Given the description of an element on the screen output the (x, y) to click on. 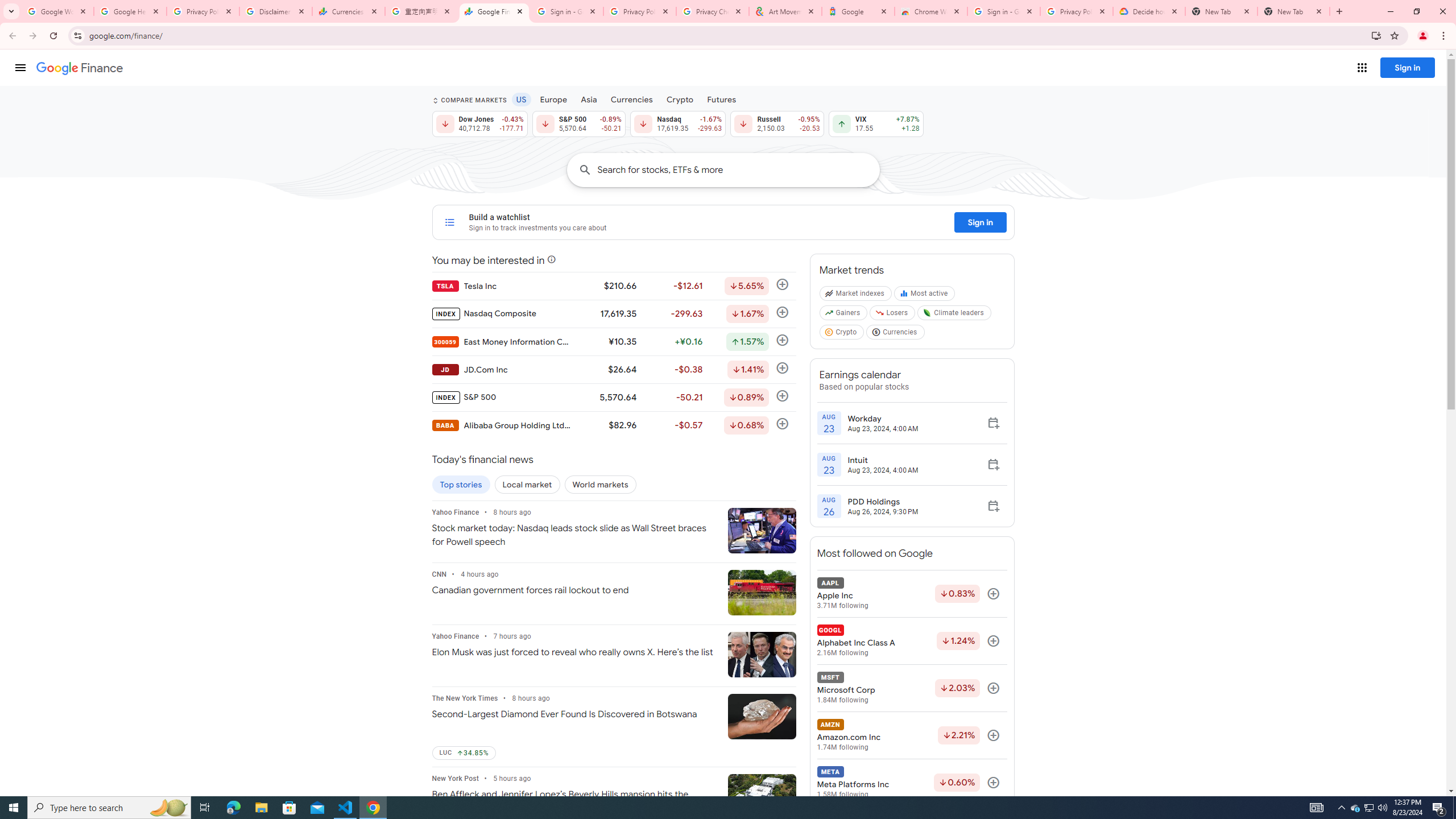
Top stories (460, 484)
Futures (721, 99)
S&P 500 5,570.64 Down by 0.89% -50.21 (578, 123)
VIX 17.55 Up by 7.87% +1.28 (875, 123)
Market indexes (855, 295)
INDEX S&P 500 5,570.64 -50.21 Down by 0.89% Follow (613, 396)
MSFT Microsoft Corp 1.84M following Down by 2.03% Follow (911, 688)
Google (857, 11)
New Tab (1293, 11)
META Meta Platforms Inc 1.58M following Down by 0.60% Follow (911, 782)
GLeaf logo (927, 312)
Asia (588, 99)
